Given the description of an element on the screen output the (x, y) to click on. 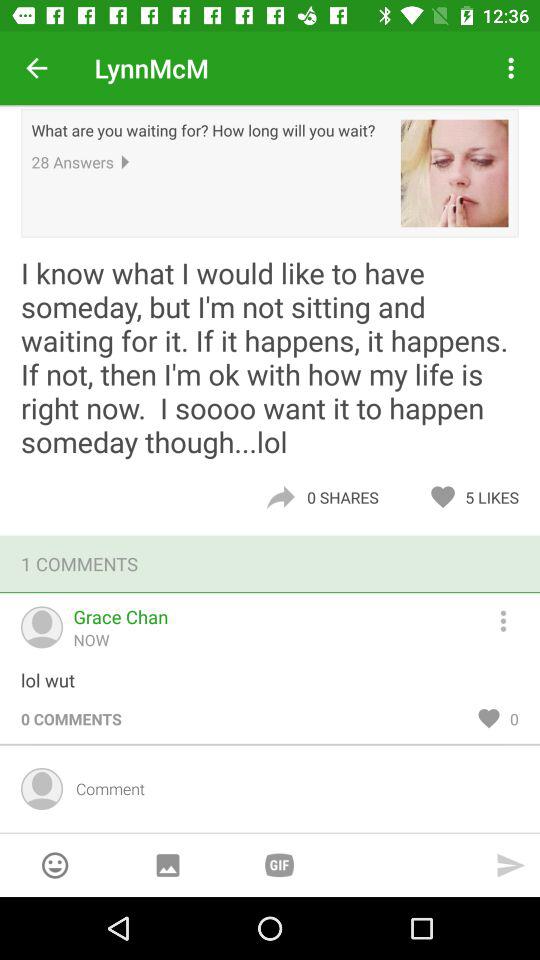
select image (167, 865)
